Given the description of an element on the screen output the (x, y) to click on. 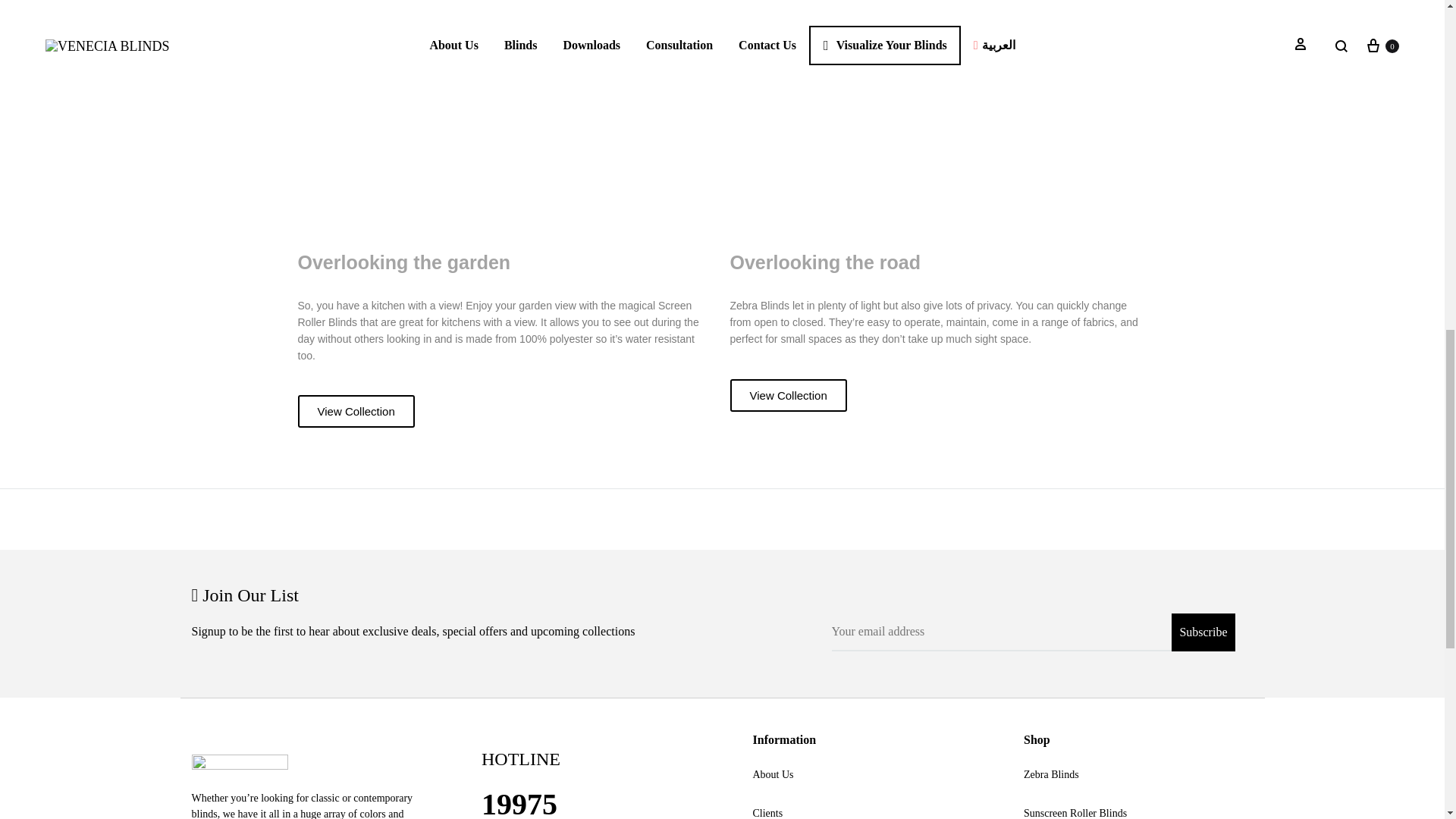
Kitchen Blinds 4 (938, 119)
Kitchen Blinds 3 (505, 119)
Subscribe (1203, 632)
